Given the description of an element on the screen output the (x, y) to click on. 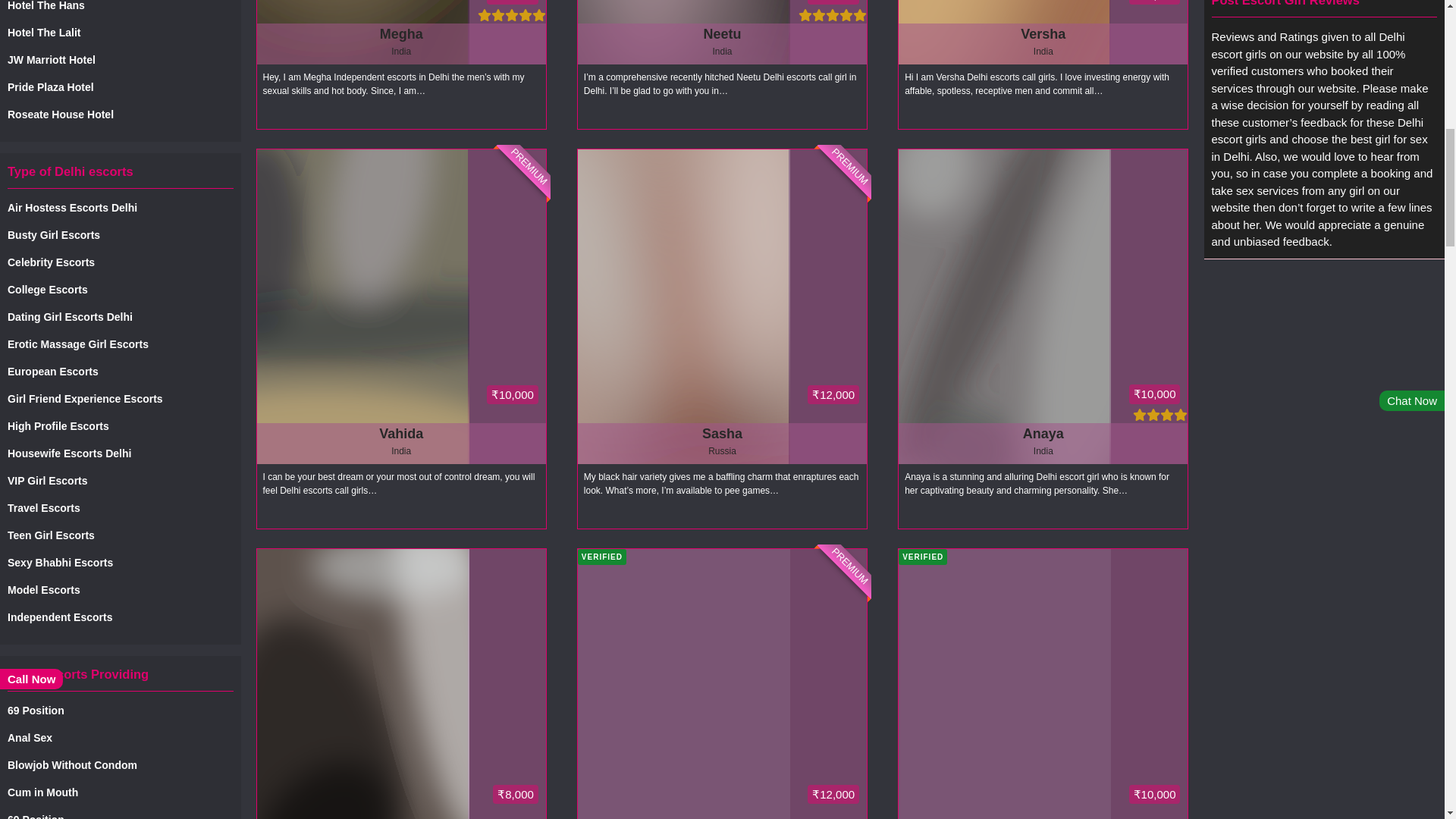
Busty Girl Escorts (119, 235)
Dating Girl Escorts Delhi (119, 317)
Hotel The Lalit (119, 32)
JW Marriott Hotel (119, 59)
Celebrity Escorts (119, 262)
Roseate House Hotel (119, 114)
Pride Plaza Hotel (119, 87)
College Escorts (119, 289)
Hotel The Hans (119, 6)
Air Hostess Escorts Delhi (119, 207)
